Given the description of an element on the screen output the (x, y) to click on. 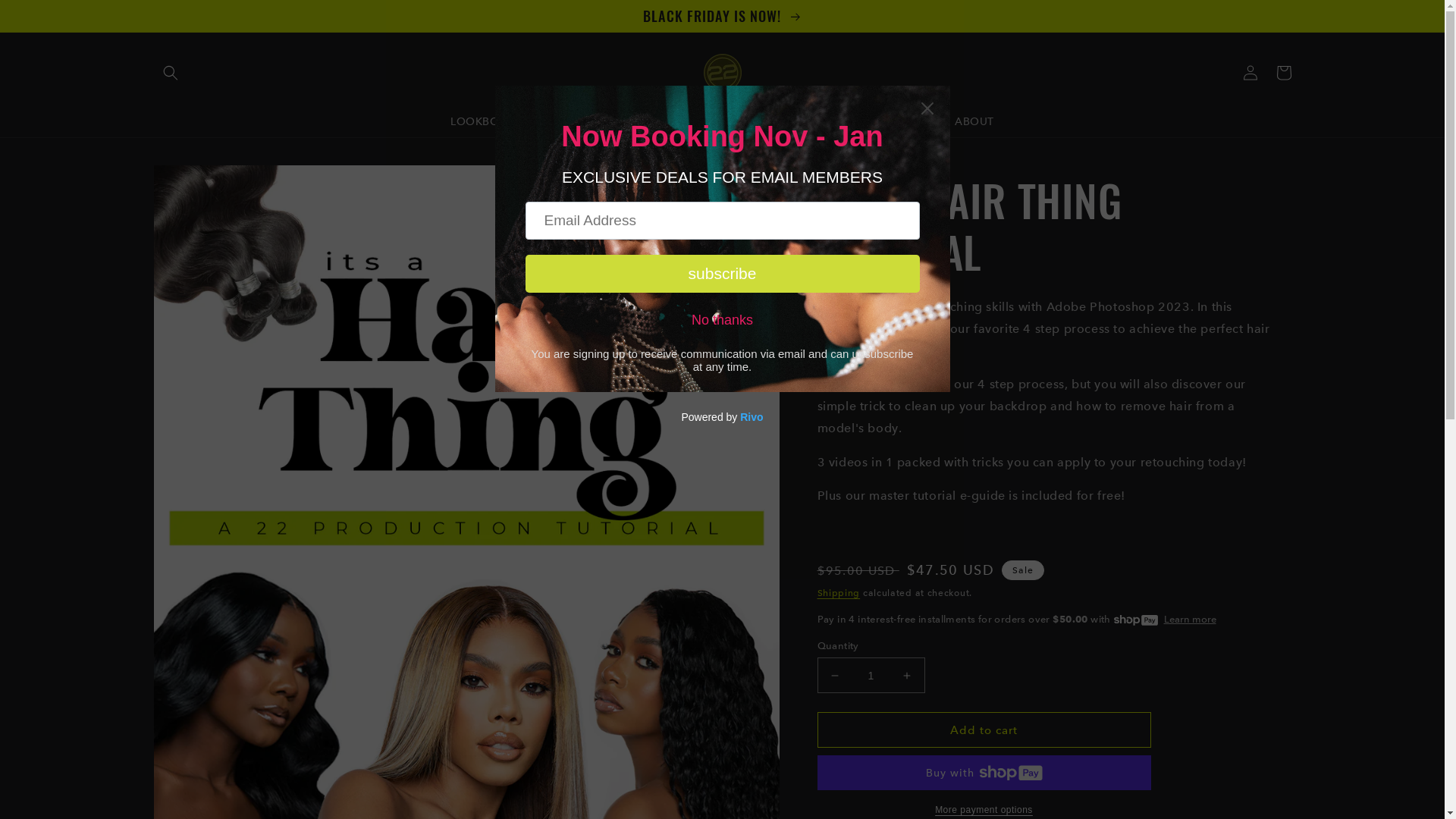
Decrease quantity for IT&#39;S A HAIR THING TUTORIAL Element type: text (834, 675)
THE JAYLEN FIRM Element type: text (701, 121)
BLACK FRIDAY IS NOW! Element type: text (722, 15)
LOOKBOOK Element type: text (483, 121)
F.A.Q Element type: text (848, 121)
Cart Element type: text (1282, 72)
CONTACT Element type: text (908, 121)
APT. 22B Element type: text (792, 121)
Skip to product information Element type: text (199, 182)
Shipping Element type: text (838, 592)
Log in Element type: text (1249, 72)
SHOP Element type: text (549, 121)
ABOUT Element type: text (974, 121)
SERVICES Element type: text (609, 121)
More payment options Element type: text (984, 809)
Increase quantity for IT&#39;S A HAIR THING TUTORIAL Element type: text (907, 675)
Add to cart Element type: text (984, 729)
